Given the description of an element on the screen output the (x, y) to click on. 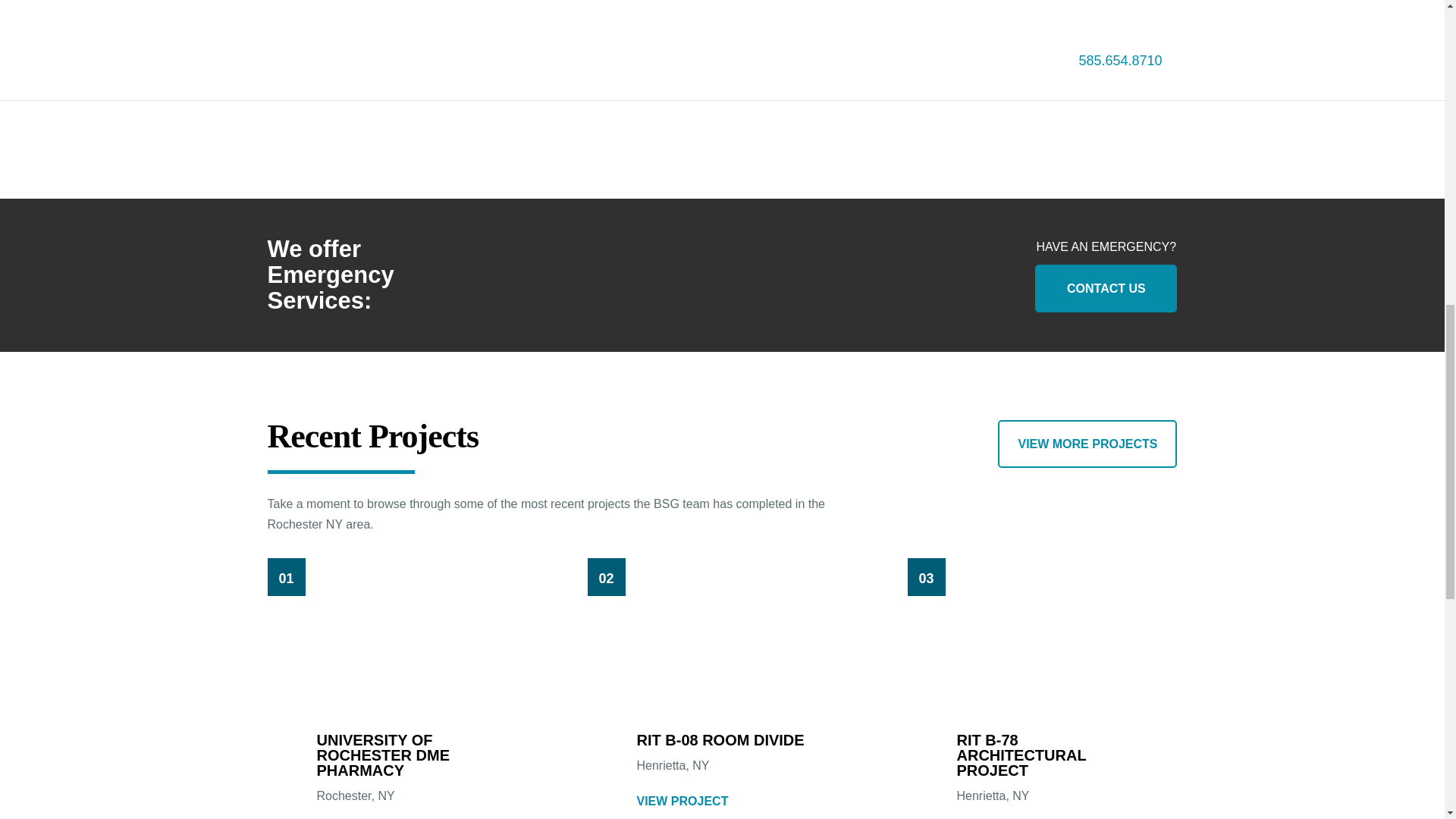
CONTACT US (1105, 288)
VIEW PROJECT (683, 801)
VIEW MORE PROJECTS (1086, 443)
